Given the description of an element on the screen output the (x, y) to click on. 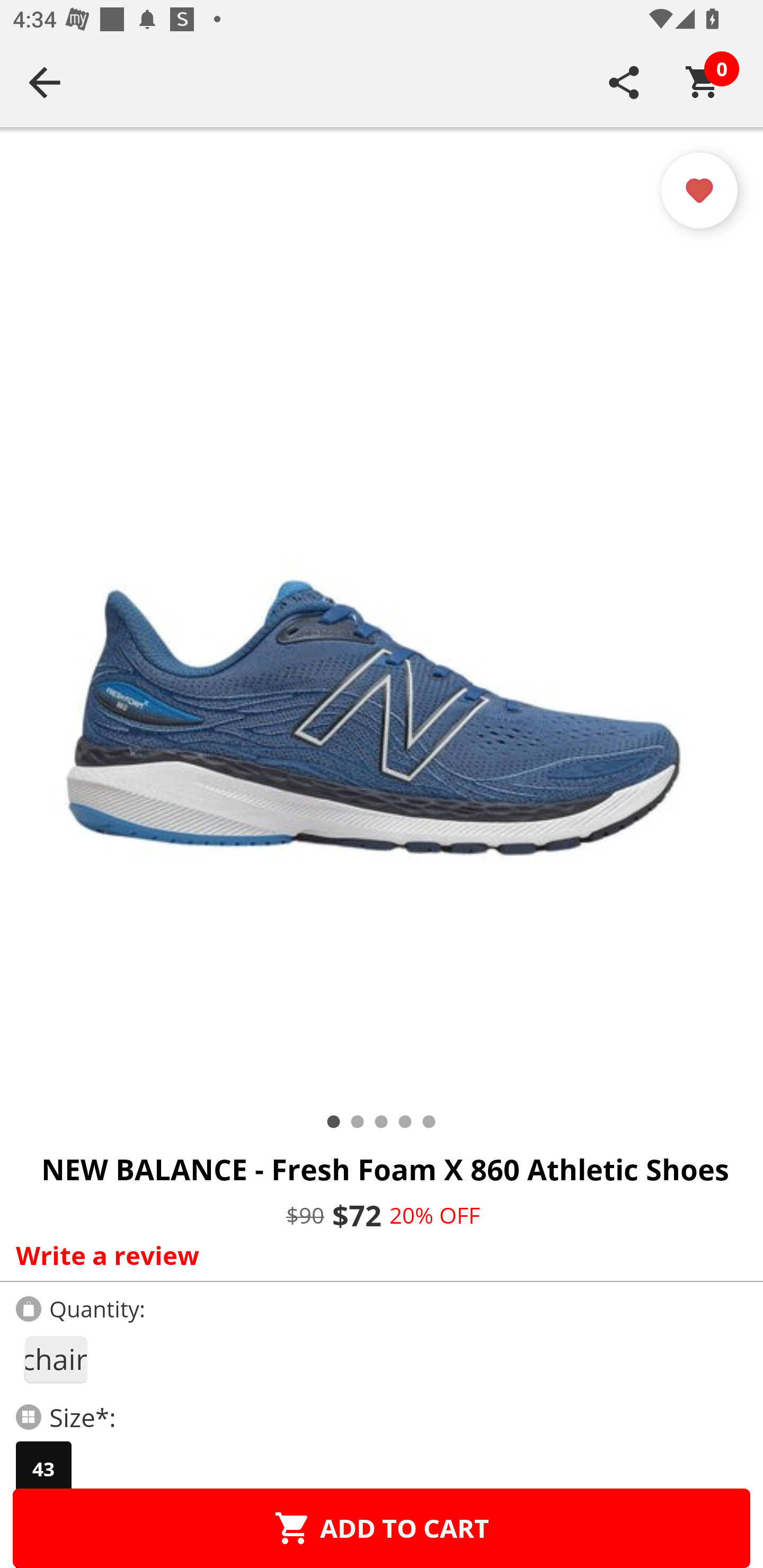
Navigate up (44, 82)
SHARE (623, 82)
Cart (703, 81)
Write a review (377, 1255)
1armchair (55, 1358)
43 (43, 1468)
ADD TO CART (381, 1528)
